Given the description of an element on the screen output the (x, y) to click on. 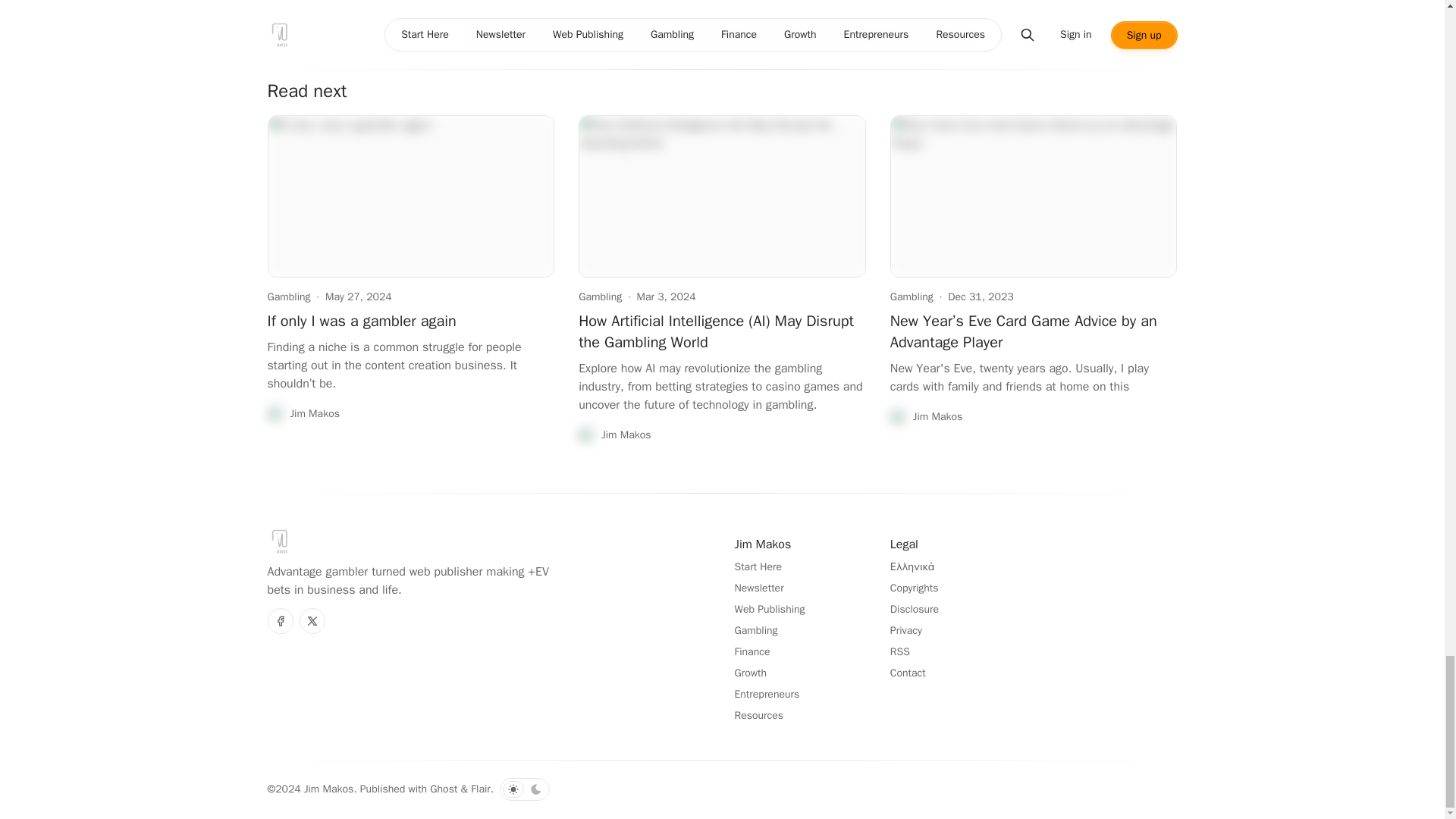
Gambling (599, 296)
If only I was a gambler again (360, 321)
Gambling (288, 296)
Jim Makos (302, 413)
